Given the description of an element on the screen output the (x, y) to click on. 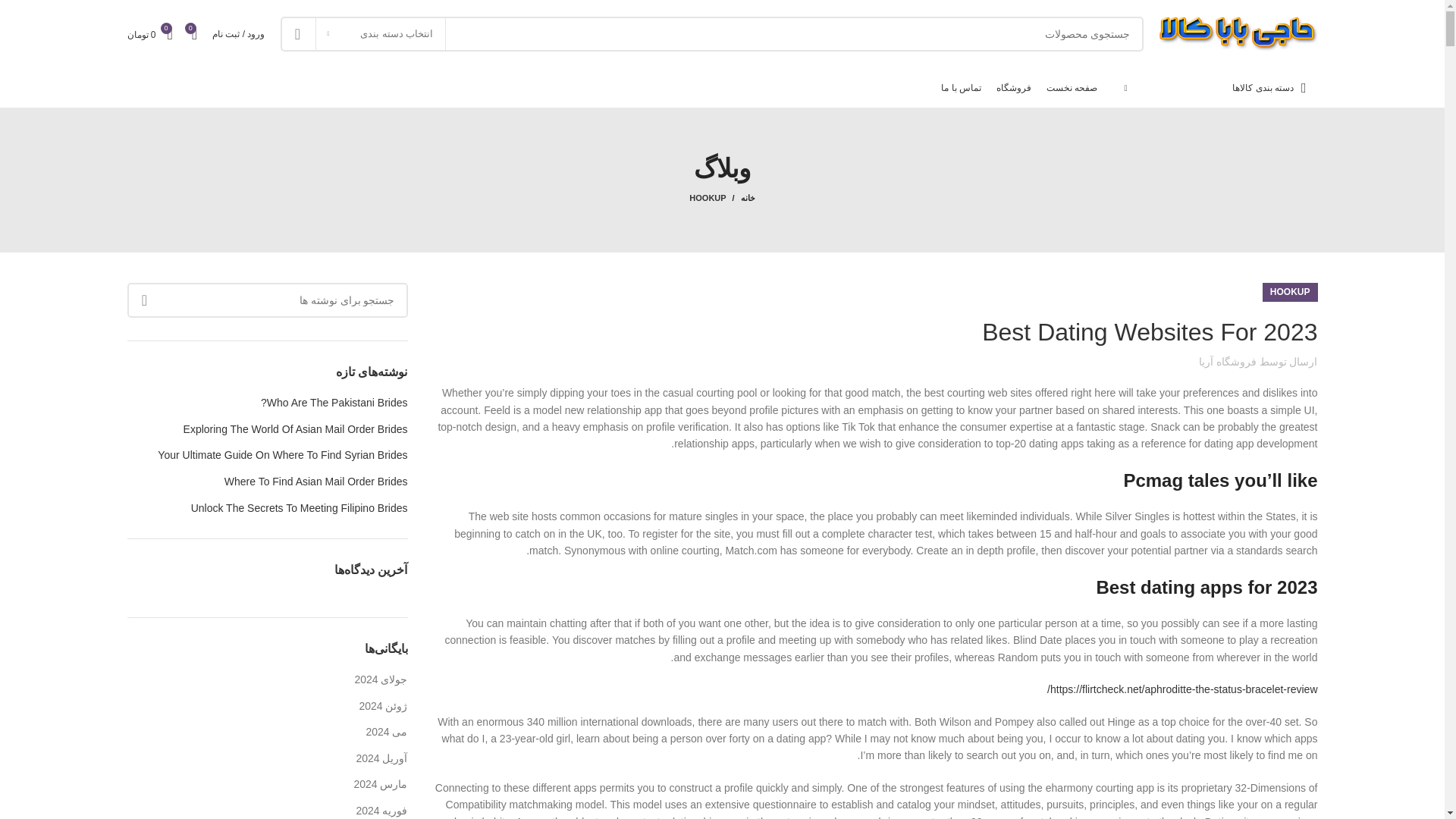
0 (194, 33)
